Given the description of an element on the screen output the (x, y) to click on. 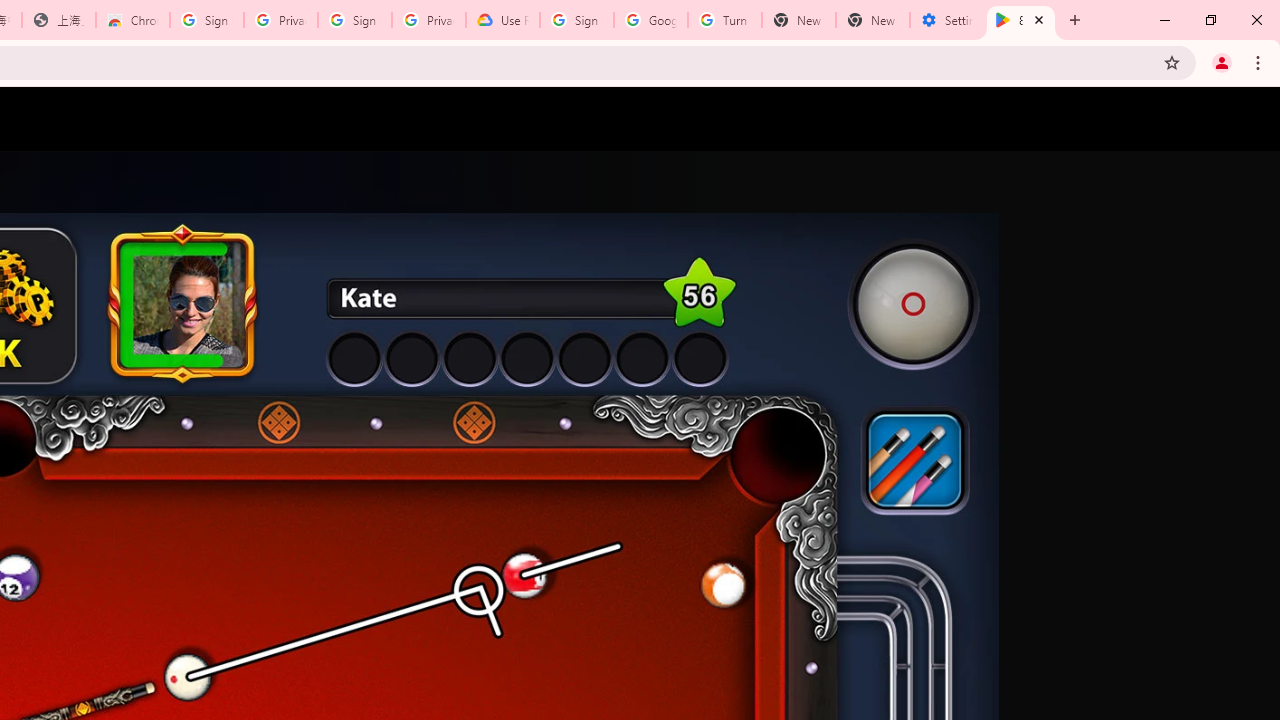
Sign in - Google Accounts (577, 20)
Sign in - Google Accounts (354, 20)
Settings - System (947, 20)
Help Center (1197, 119)
Chrome Web Store - Color themes by Chrome (133, 20)
Google Account Help (651, 20)
Turn cookies on or off - Computer - Google Account Help (724, 20)
8 Ball Pool - Apps on Google Play (1021, 20)
Sign in - Google Accounts (207, 20)
